Given the description of an element on the screen output the (x, y) to click on. 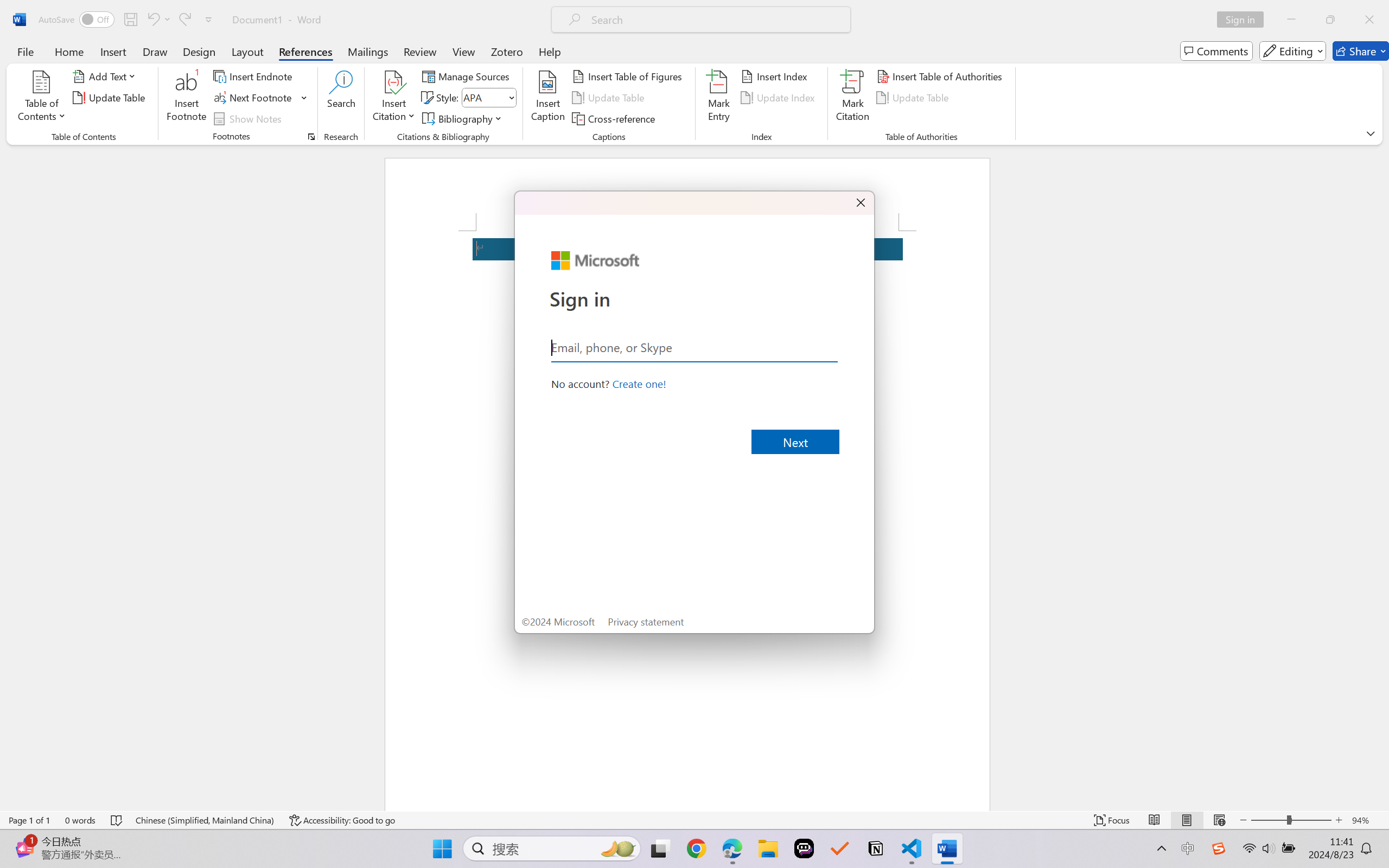
Insert Table of Authorities... (941, 75)
Manage Sources... (467, 75)
Mark Entry... (718, 97)
